Given the description of an element on the screen output the (x, y) to click on. 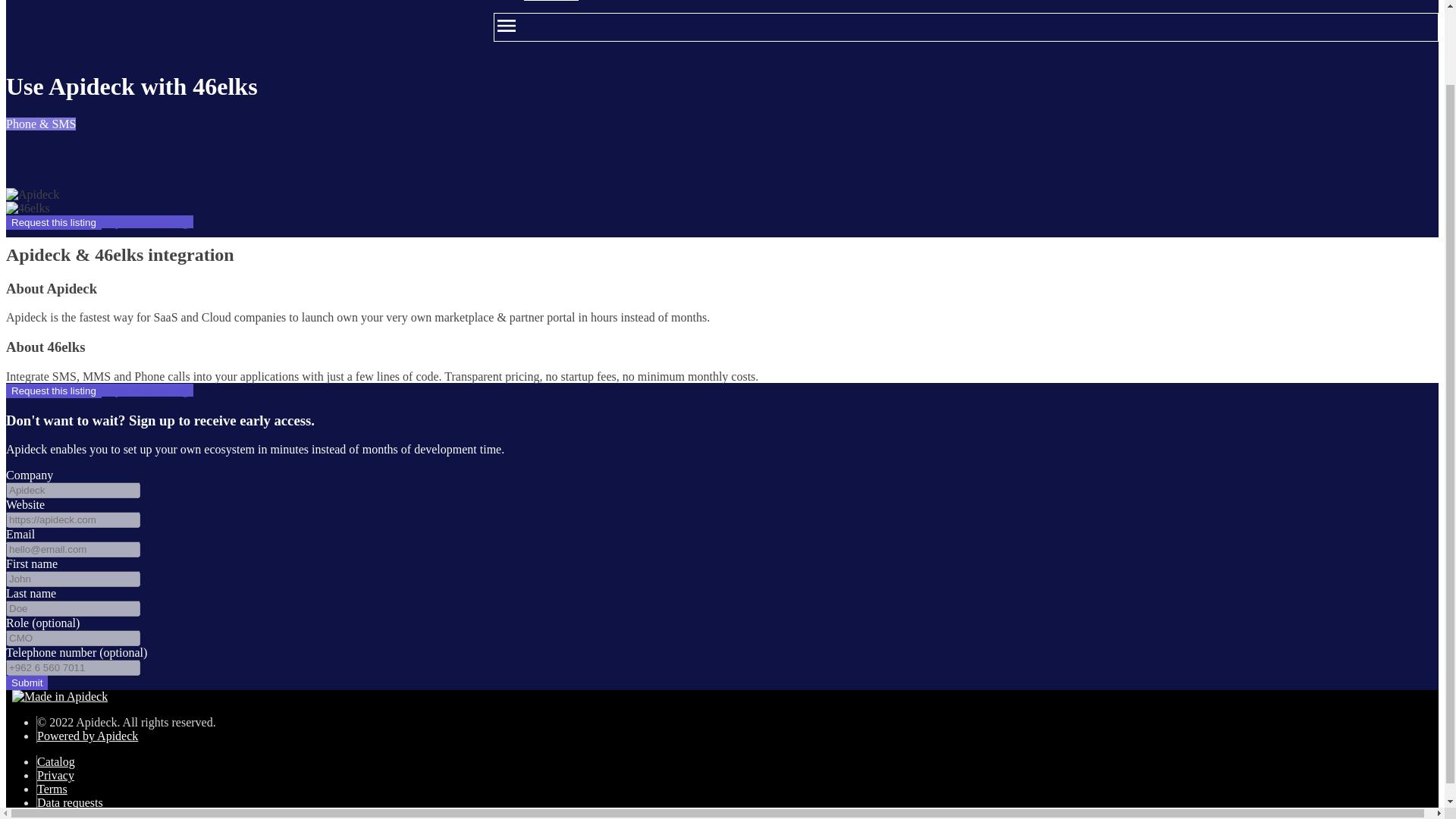
Submit (26, 682)
Explore all listings (147, 221)
Apideck (32, 194)
Data requests (70, 802)
Explore all listings (147, 390)
Request this listing (53, 391)
46elks (27, 208)
Request this listing (53, 222)
Catalog (56, 761)
Powered by Apideck (87, 735)
